Given the description of an element on the screen output the (x, y) to click on. 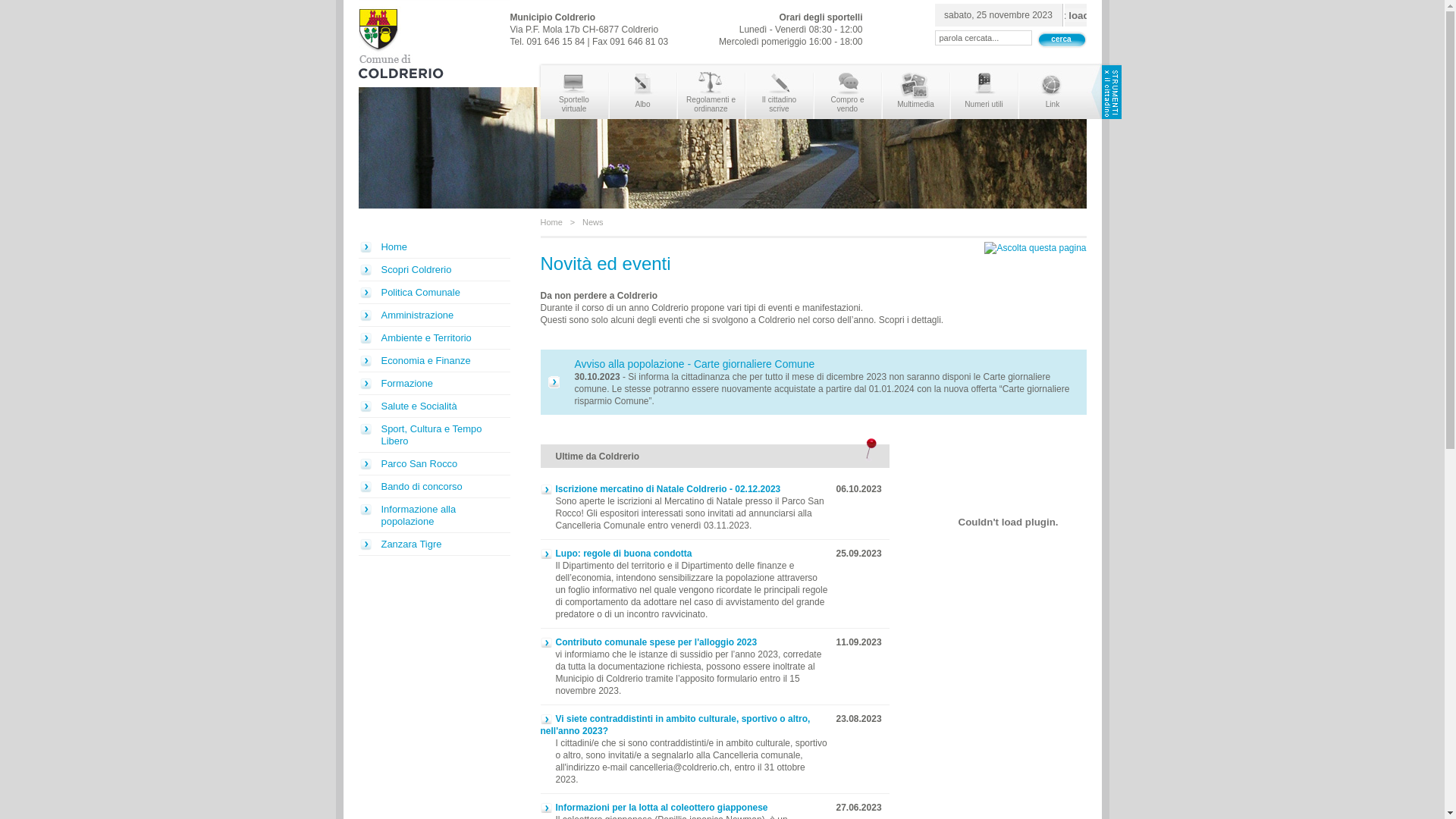
Avviso alla popolazione - Carte giornaliere Comune Element type: text (694, 363)
Home Element type: text (433, 246)
Lupo: regole di buona condotta Element type: text (615, 553)
Multimedia Element type: text (915, 92)
Ascolta questa pagina Element type: hover (1034, 247)
Compro e vendo Element type: text (847, 92)
Bando di concorso Element type: text (433, 486)
Informazione alla popolazione Element type: text (433, 515)
Home Element type: text (550, 222)
Informazioni per la lotta al coleottero giapponese Element type: text (653, 807)
cerca Element type: text (1060, 39)
orologio Element type: hover (1075, 14)
Contributo comunale spese per l'alloggio 2023 Element type: text (647, 642)
GalleryEventi Element type: hover (1007, 521)
Sport, Cultura e Tempo Libero Element type: text (433, 434)
Ambiente e Territorio Element type: text (433, 337)
Il cittadino scrive Element type: text (779, 92)
Iscrizione mercatino di Natale Coldrerio - 02.12.2023 Element type: text (659, 488)
Zanzara Tigre Element type: text (433, 544)
Amministrazione Element type: text (433, 315)
Link Element type: text (1052, 92)
Albo Element type: text (642, 92)
Economia e Finanze Element type: text (433, 360)
Parco San Rocco Element type: text (433, 463)
Regolamenti e ordinanze Element type: text (710, 92)
Scopri Coldrerio Element type: text (433, 269)
Formazione Element type: text (433, 383)
Politica Comunale Element type: text (433, 292)
Numeri utili Element type: text (983, 92)
Sportello virtuale Element type: text (573, 92)
